Given the description of an element on the screen output the (x, y) to click on. 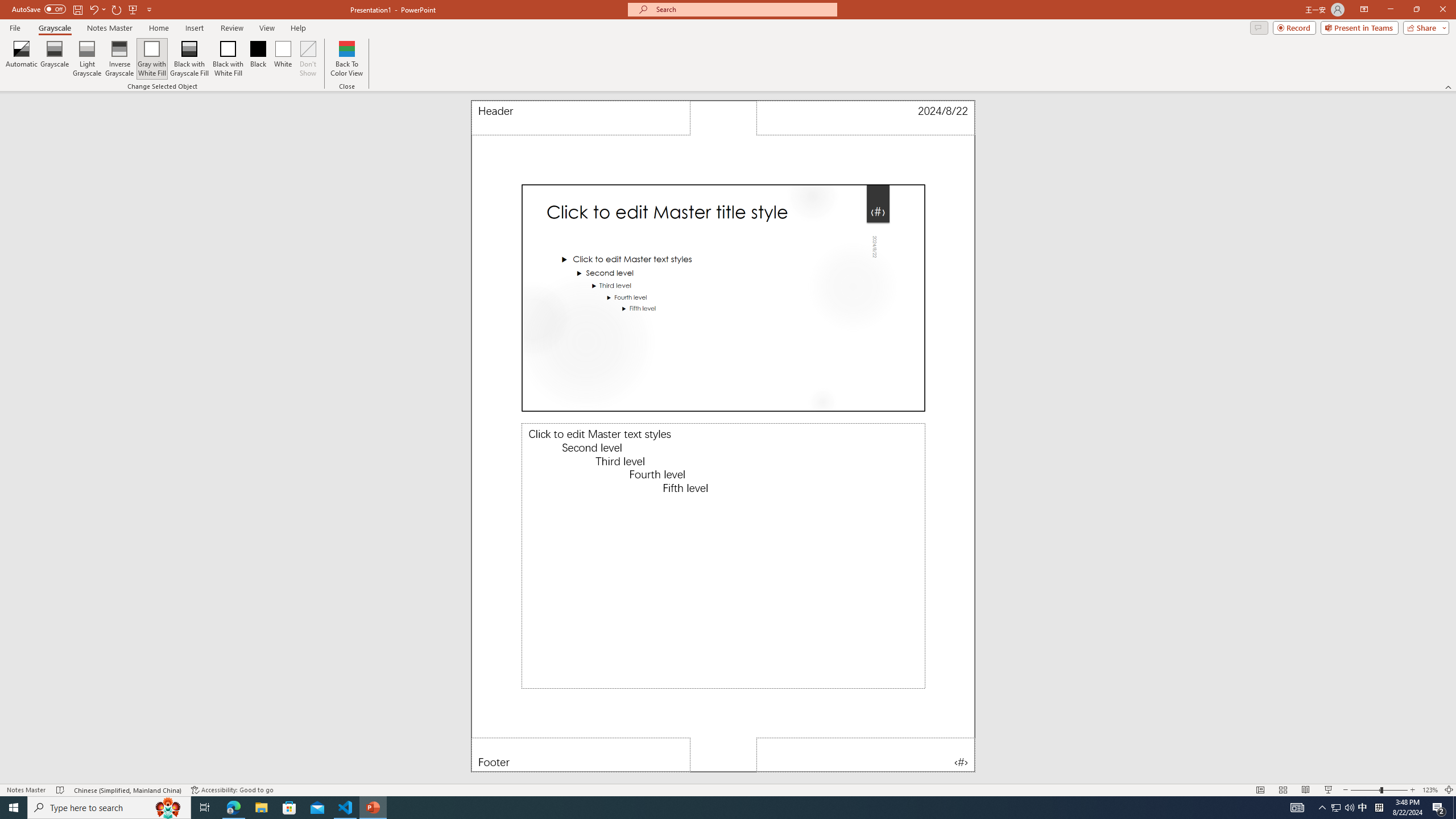
Light Grayscale (87, 58)
Header (580, 117)
Back To Color View (346, 58)
Page Number (866, 754)
Slide Notes (723, 555)
Date (866, 117)
